Given the description of an element on the screen output the (x, y) to click on. 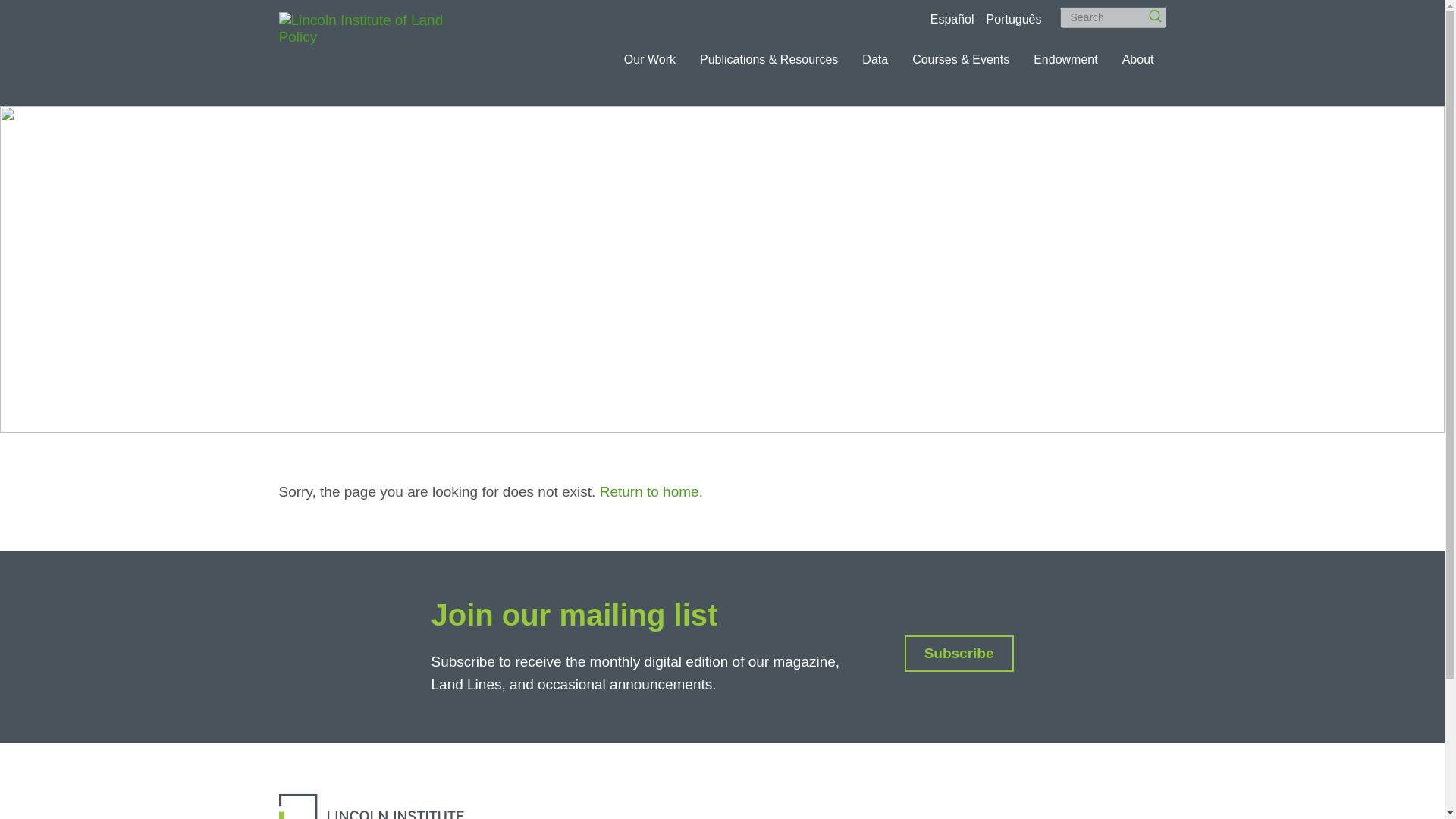
Search (1149, 11)
Search (1112, 16)
Data (874, 59)
Our Work (649, 59)
Search (1149, 11)
